Given the description of an element on the screen output the (x, y) to click on. 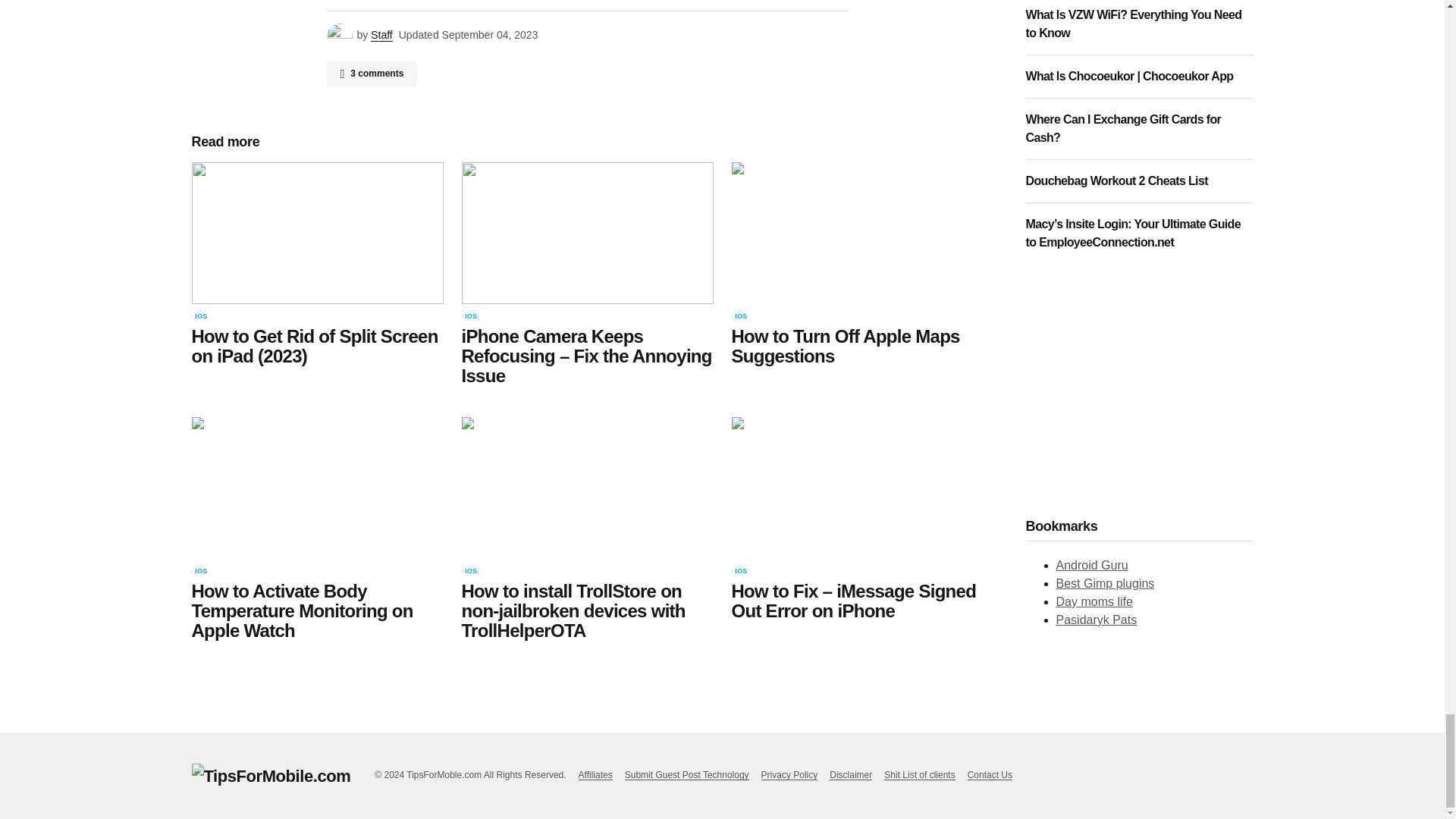
How to Turn Off Apple Maps Suggestions (856, 232)
How to Activate Body Temperature Monitoring on Apple Watch (316, 487)
